Given the description of an element on the screen output the (x, y) to click on. 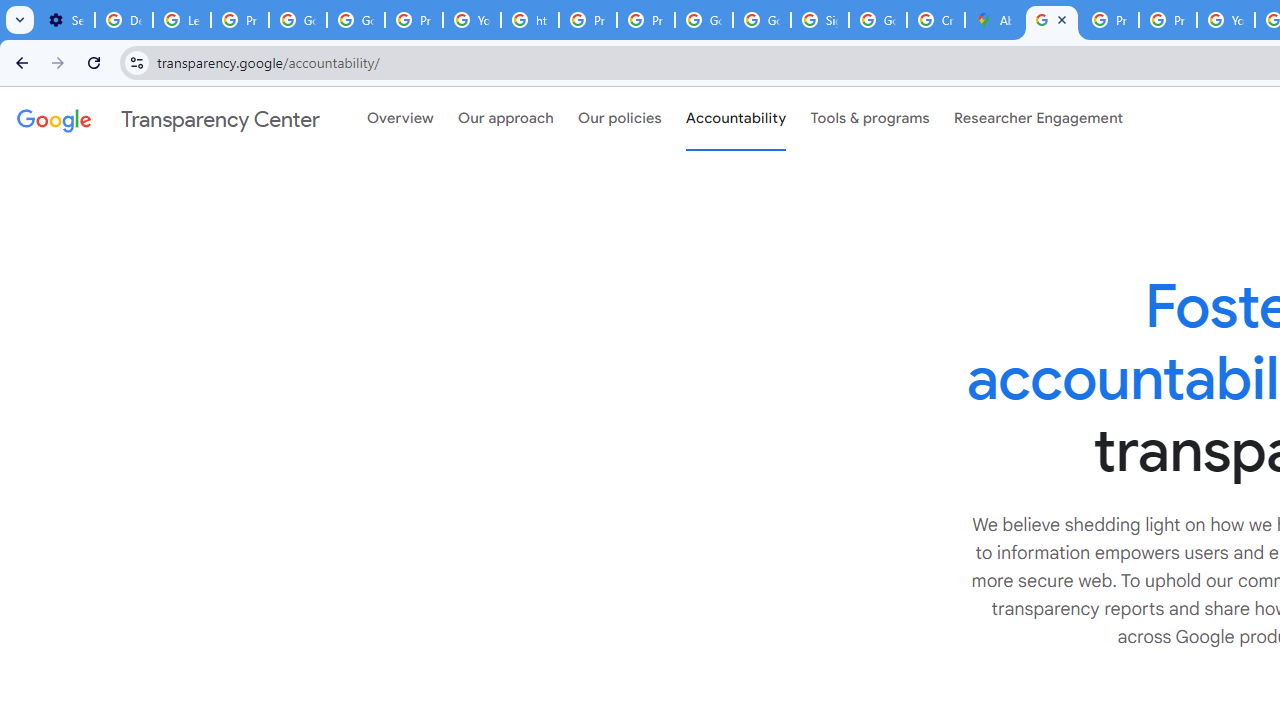
Our approach (506, 119)
Accountability (735, 119)
Policy Accountability and Transparency - Transparency Center (1051, 20)
Our policies (619, 119)
